Given the description of an element on the screen output the (x, y) to click on. 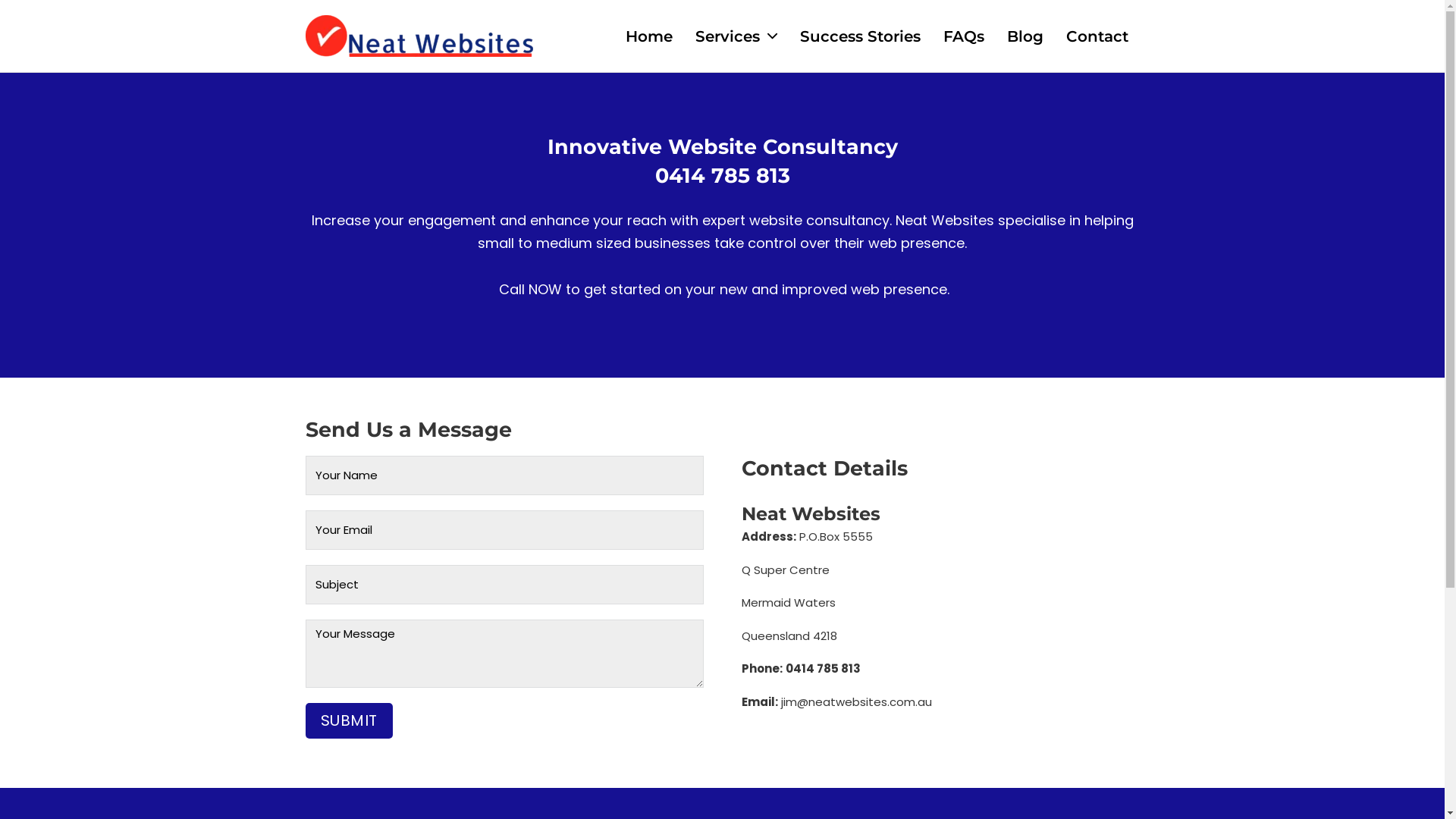
Success Stories Element type: text (859, 35)
FAQs Element type: text (963, 35)
Contact Element type: text (1097, 35)
Blog Element type: text (1025, 35)
SUBMIT Element type: text (348, 720)
Services Element type: text (726, 35)
Home Element type: text (647, 35)
